Given the description of an element on the screen output the (x, y) to click on. 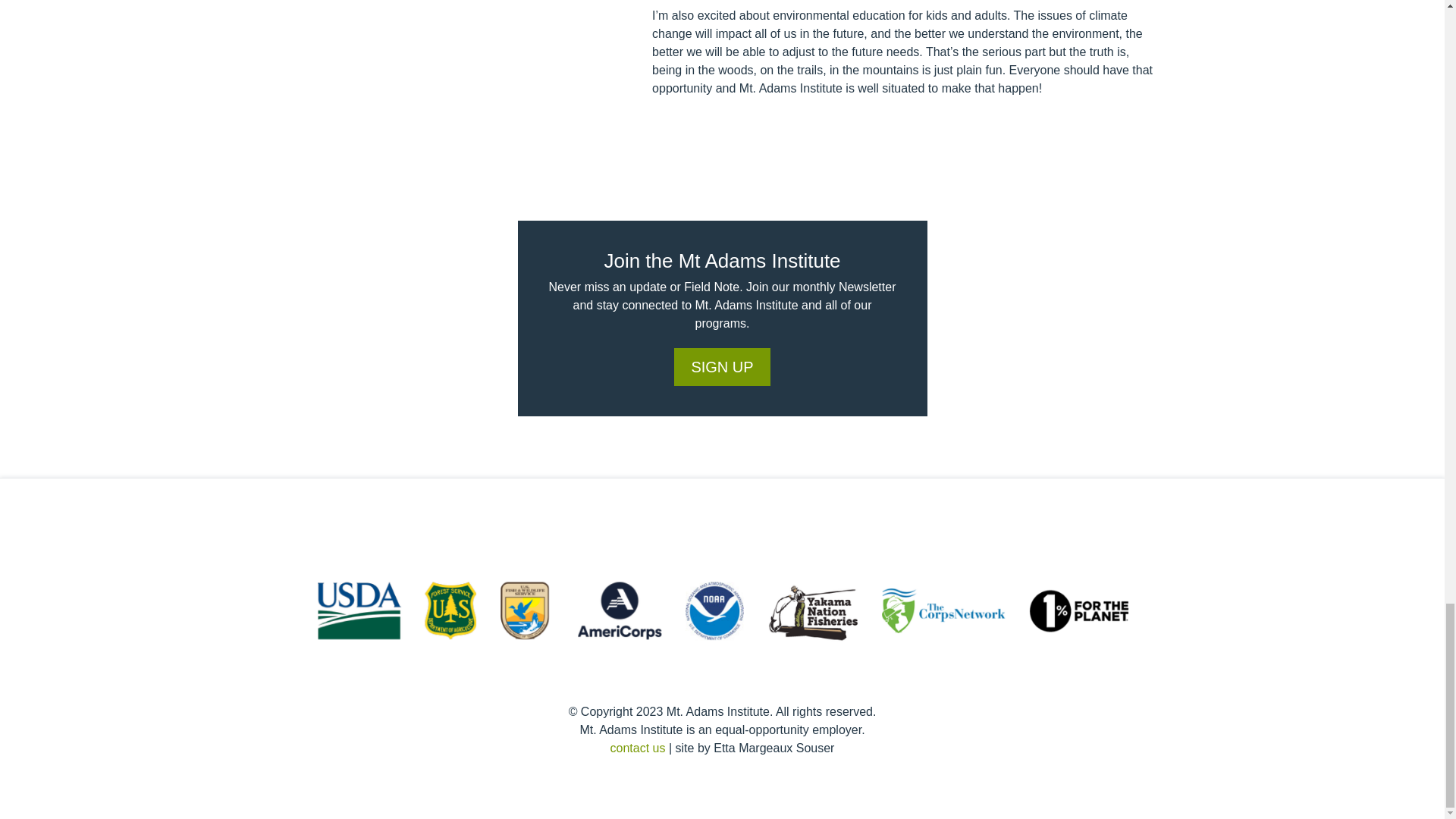
Footer Partner Logos-1 (722, 610)
